Given the description of an element on the screen output the (x, y) to click on. 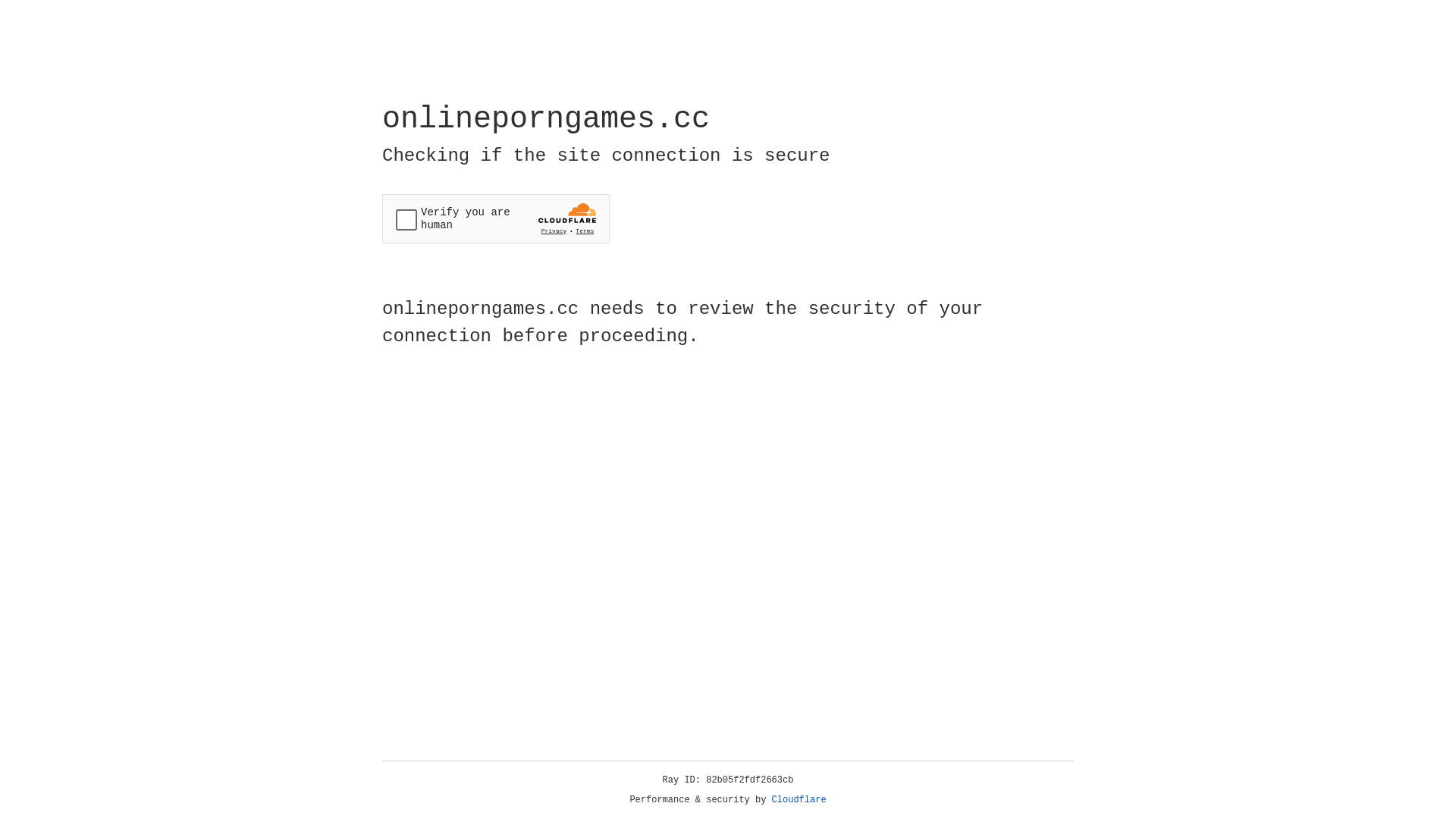
Widget containing a Cloudflare security challenge Element type: hover (495, 218)
Cloudflare Element type: text (798, 799)
